Given the description of an element on the screen output the (x, y) to click on. 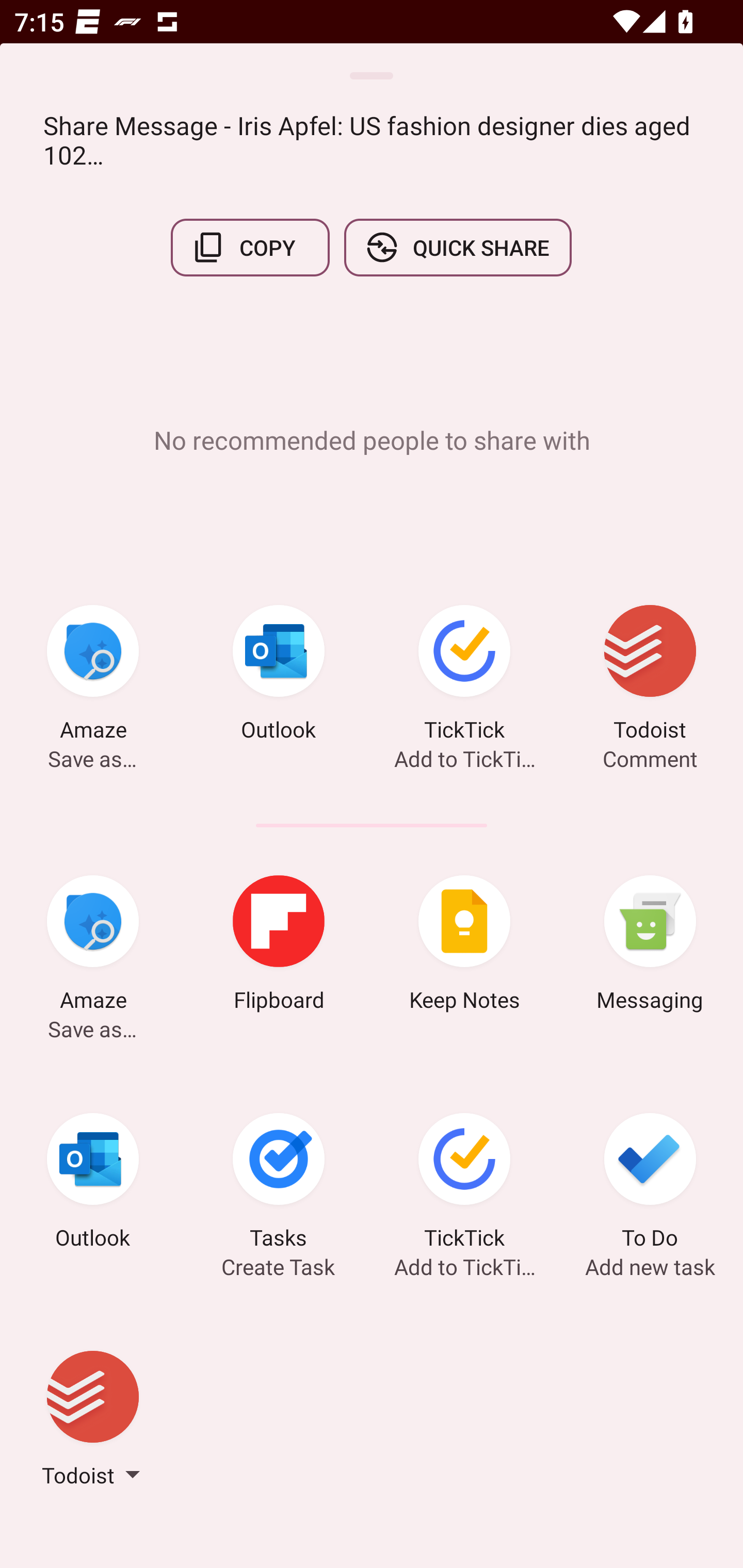
COPY (249, 247)
QUICK SHARE (457, 247)
Amaze Save as… (92, 675)
Outlook (278, 675)
TickTick Add to TickTick (464, 675)
Todoist Comment (650, 675)
Amaze Save as… (92, 945)
Flipboard (278, 945)
Keep Notes (464, 945)
Messaging (650, 945)
Outlook (92, 1183)
Tasks Create Task (278, 1183)
TickTick Add to TickTick (464, 1183)
To Do Add new task (650, 1183)
Todoist (92, 1422)
